Given the description of an element on the screen output the (x, y) to click on. 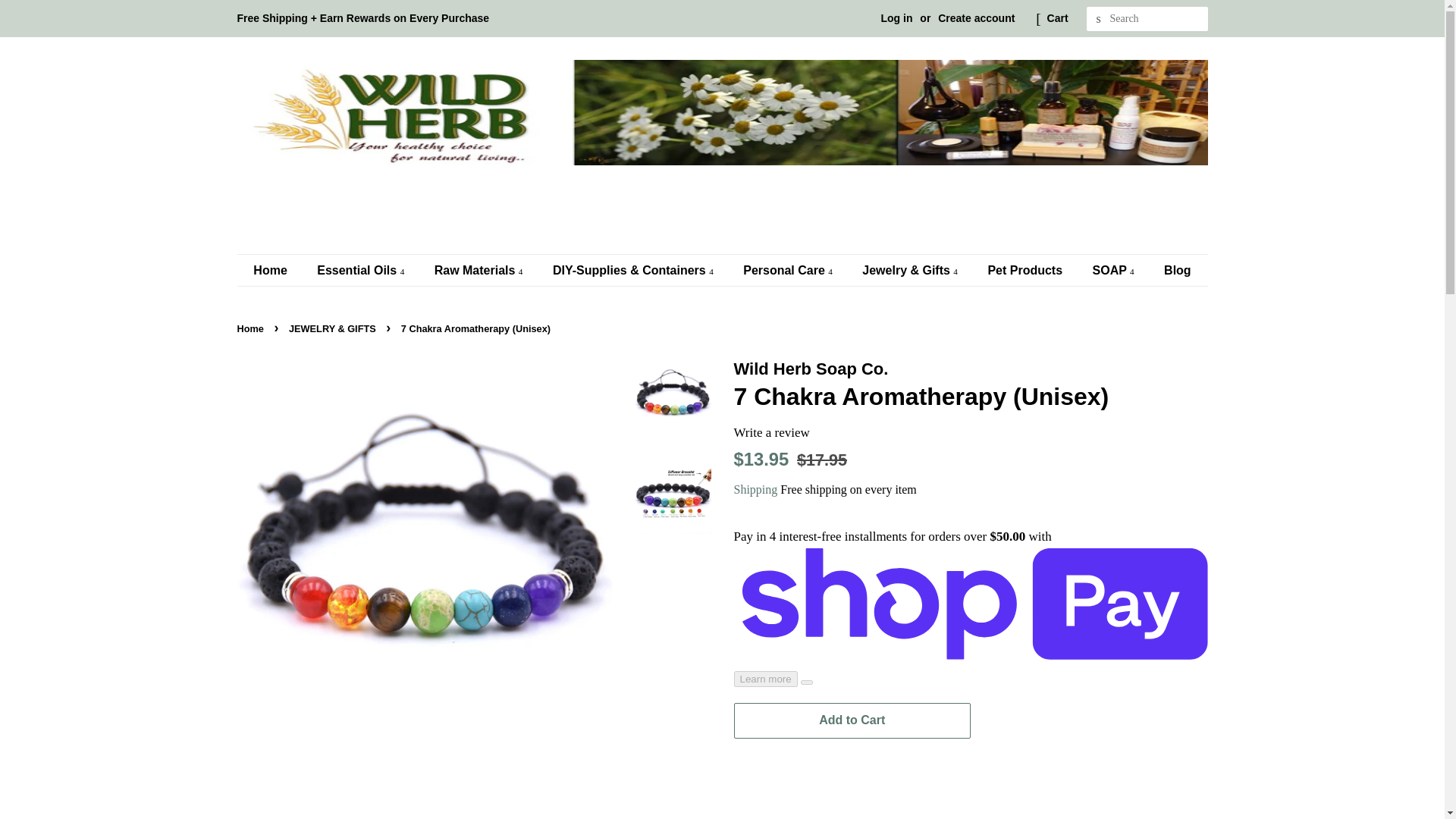
Log in (896, 18)
Search (1097, 18)
Cart (1057, 18)
Create account (975, 18)
Back to the frontpage (250, 328)
